Given the description of an element on the screen output the (x, y) to click on. 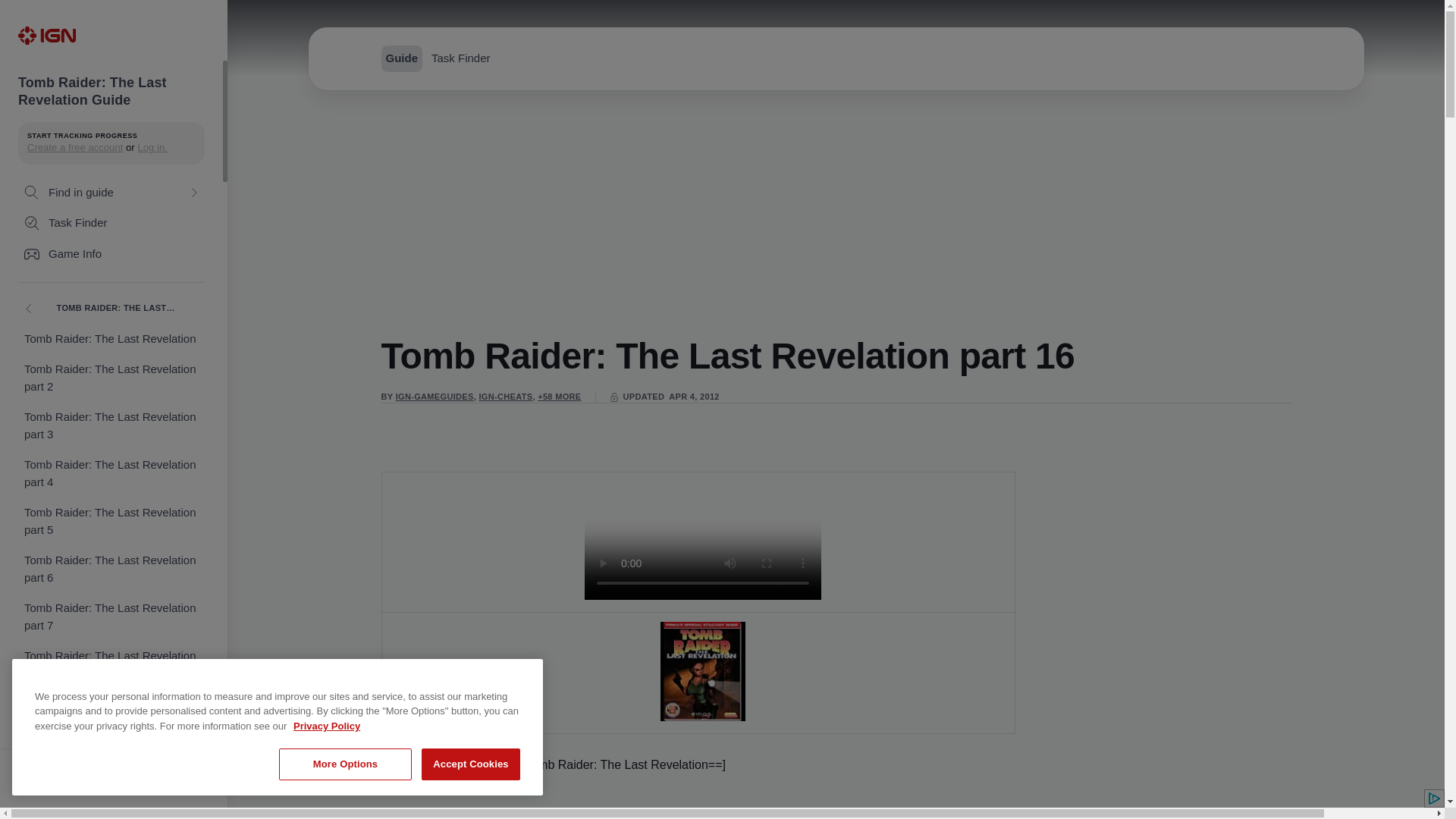
Task Finder (111, 223)
Tomb Raider: The Last Revelation part 11 (111, 801)
Find in guide (111, 193)
Tomb Raider: The Last Revelation part 5 (111, 520)
Tomb Raider: The Last Revelation part 9 (111, 712)
Tomb Raider: The Last Revelation part 11 (111, 801)
Log in. (151, 147)
IGN (46, 35)
Tomb Raider: The Last Revelation part 2 (111, 377)
Tomb Raider: The Last Revelation part 8 (111, 664)
Tomb Raider: The Last Revelation part 10 (111, 759)
Tomb Raider: The Last Revelation part 3 (111, 425)
Tomb Raider: The Last Revelation part 7 (111, 616)
Task Finder (111, 223)
Tomb Raider: The Last Revelation part 5 (111, 520)
